Given the description of an element on the screen output the (x, y) to click on. 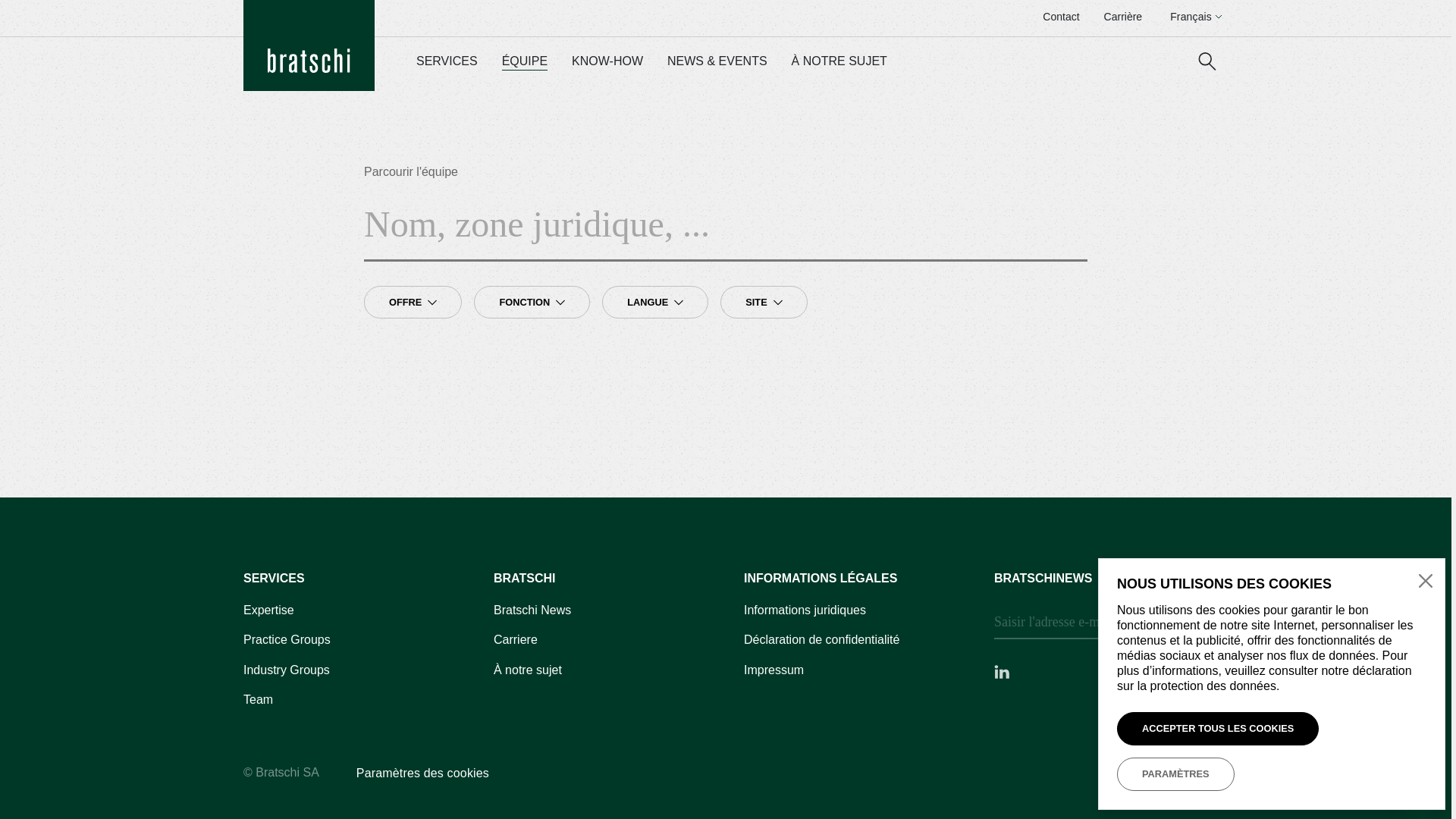
Expertise Element type: text (268, 610)
Informations juridiques Element type: text (804, 610)
Practice Groups Element type: text (286, 640)
Team Element type: text (258, 700)
Impressum Element type: text (773, 670)
Contact Element type: text (1060, 17)
Carriere Element type: text (515, 640)
LANGUE Element type: text (655, 302)
NEWS & EVENTS Element type: text (717, 61)
OFFRE Element type: text (412, 302)
FONCTION Element type: text (531, 302)
linkedin Element type: hover (1001, 671)
Bratschi News Element type: text (532, 610)
Industry Groups Element type: text (286, 670)
SITE Element type: text (763, 302)
INSCRIPTION Element type: text (1166, 622)
ACCEPTER TOUS LES COOKIES Element type: text (1217, 728)
SERVICES Element type: text (446, 61)
KNOW-HOW Element type: text (607, 61)
